Given the description of an element on the screen output the (x, y) to click on. 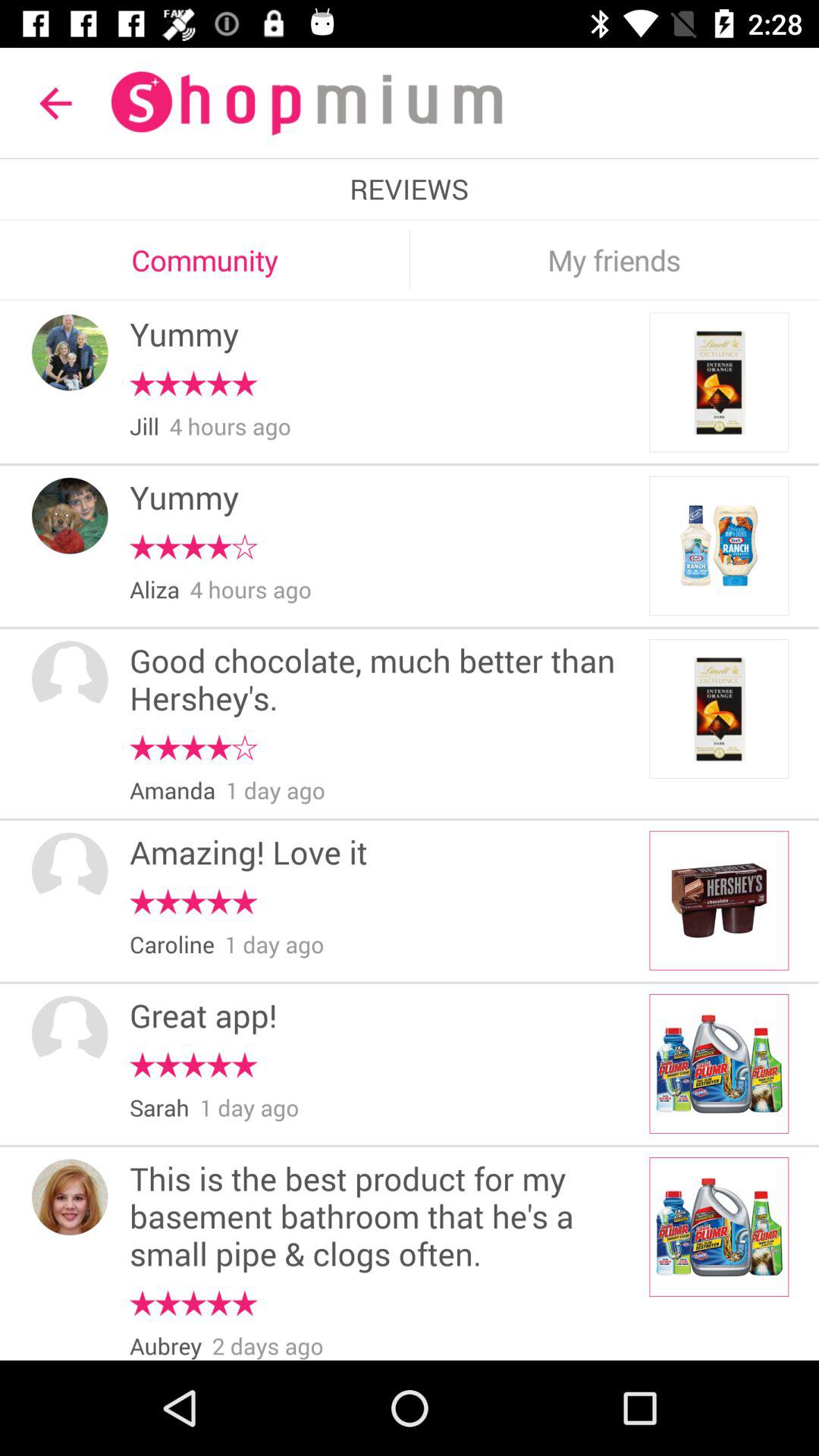
click the profile icon in the fifth block (69, 1034)
click the profile icon in the fifth block (69, 1034)
select the profile icon in the fourth block (69, 871)
select the profile image in the second block (69, 516)
select the image in the third block (719, 708)
click on the image in the first block (719, 382)
click the profile icon in the third block (69, 679)
select the hersheys (719, 901)
